Given the description of an element on the screen output the (x, y) to click on. 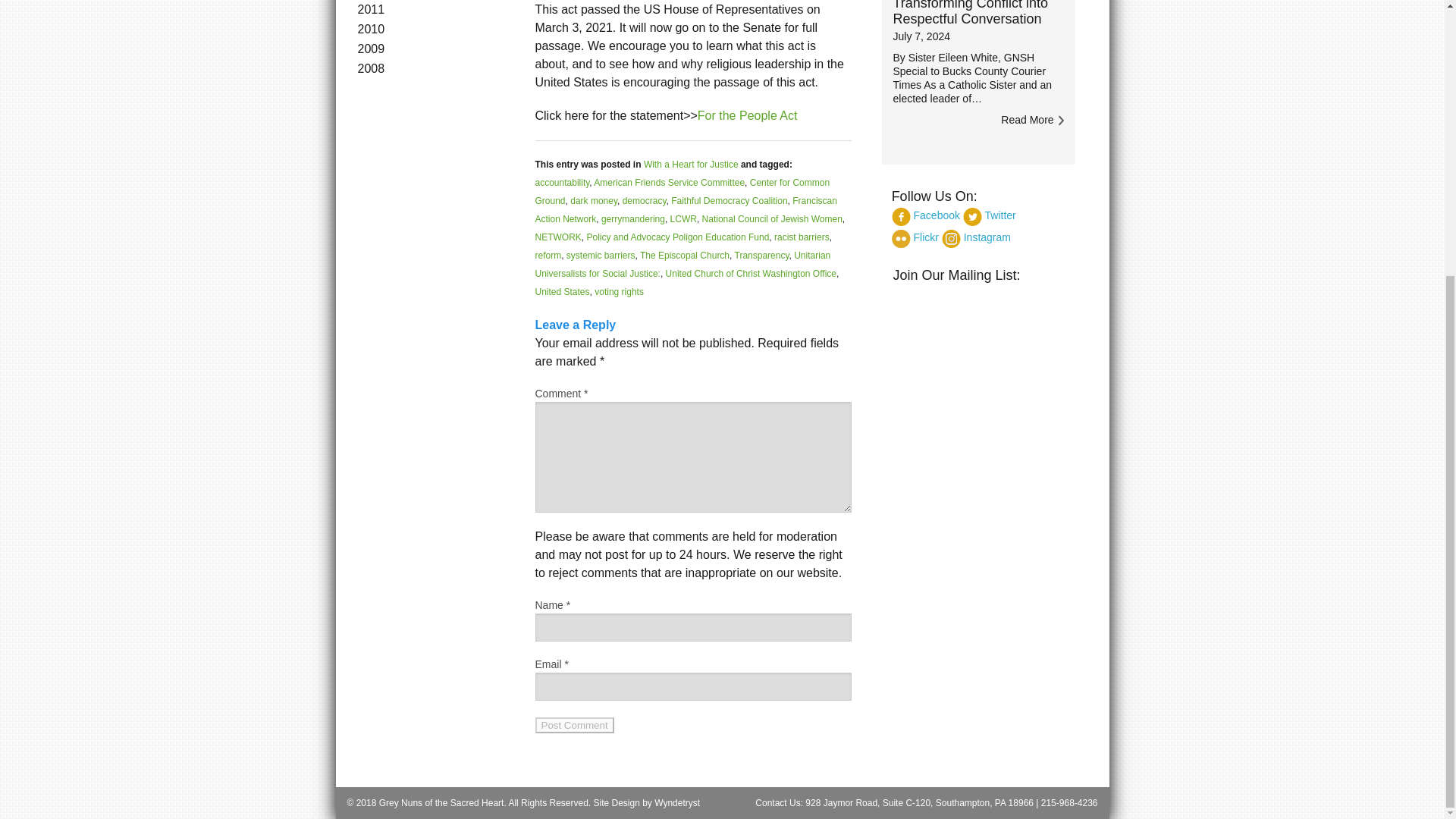
American Friends Service Committee (669, 182)
dark money (593, 200)
Post Comment (574, 725)
With a Heart for Justice (690, 163)
democracy (644, 200)
Center for Common Ground (682, 191)
LCWR (683, 218)
For the People Act (747, 115)
National Council of Jewish Women (772, 218)
Faithful Democracy Coalition (729, 200)
gerrymandering (633, 218)
accountability (562, 182)
Franciscan Action Network (686, 209)
